Given the description of an element on the screen output the (x, y) to click on. 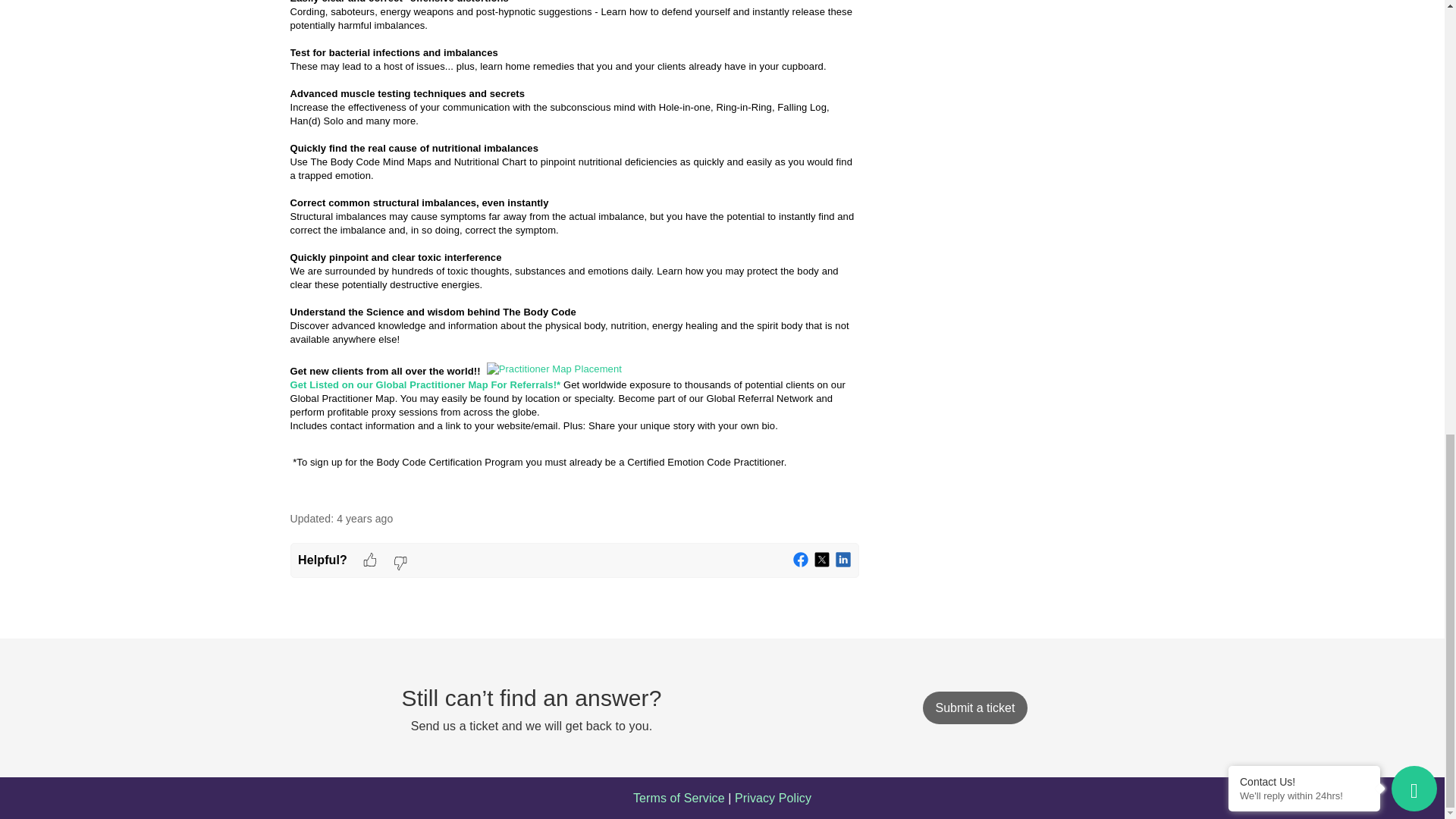
Facebook (800, 559)
Submit a ticket (974, 707)
Privacy Policy (772, 797)
LinkedIn (842, 559)
05 May 2020 10:38 PM (364, 518)
Submit a ticket (974, 707)
Practitioner Map Placement (554, 369)
Twitter (821, 559)
Terms of Service (679, 797)
